Given the description of an element on the screen output the (x, y) to click on. 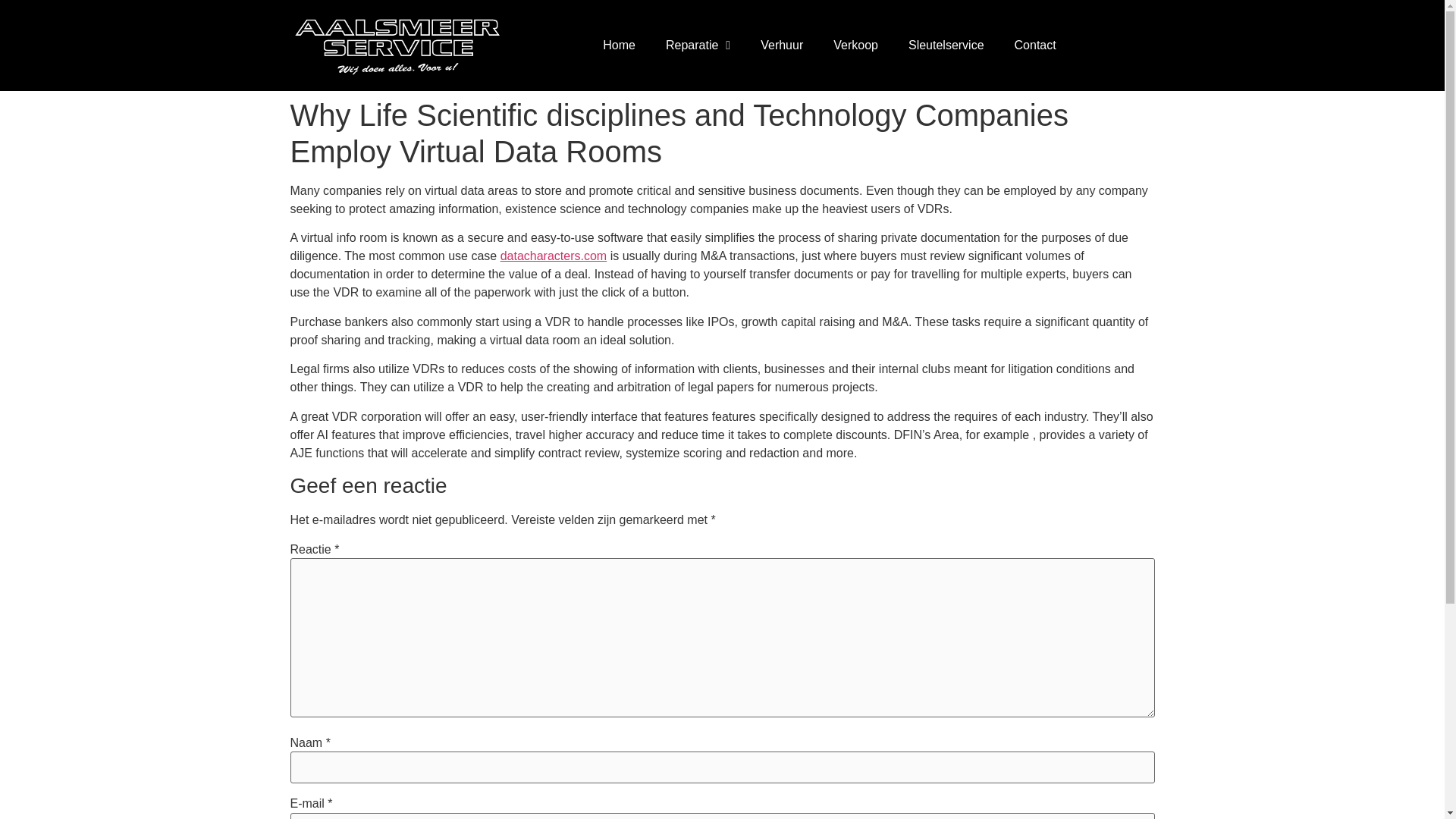
Contact (1034, 45)
Verkoop (855, 45)
Reparatie (697, 45)
Sleutelservice (945, 45)
Verhuur (781, 45)
